Given the description of an element on the screen output the (x, y) to click on. 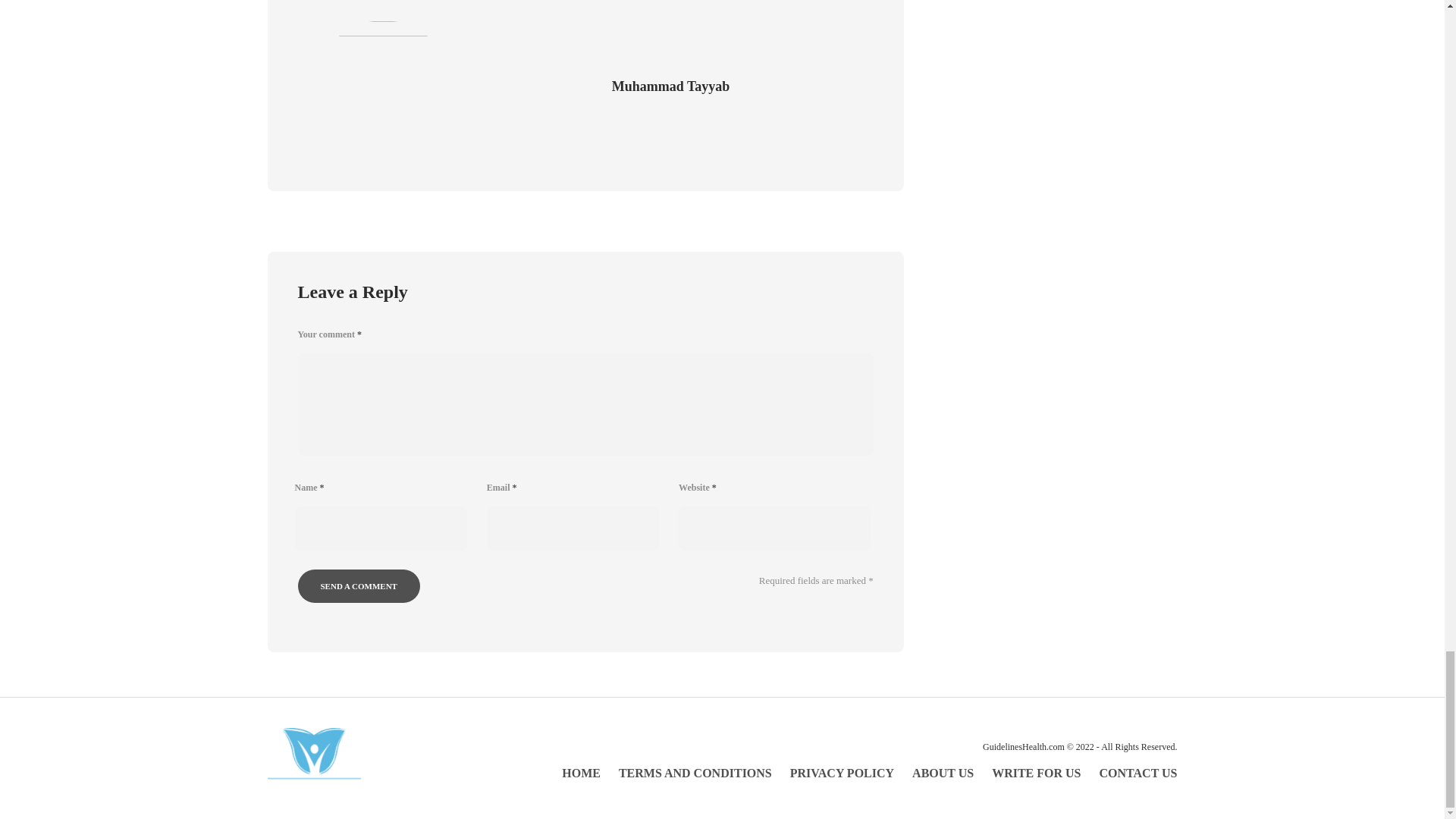
Send a comment (358, 585)
